Given the description of an element on the screen output the (x, y) to click on. 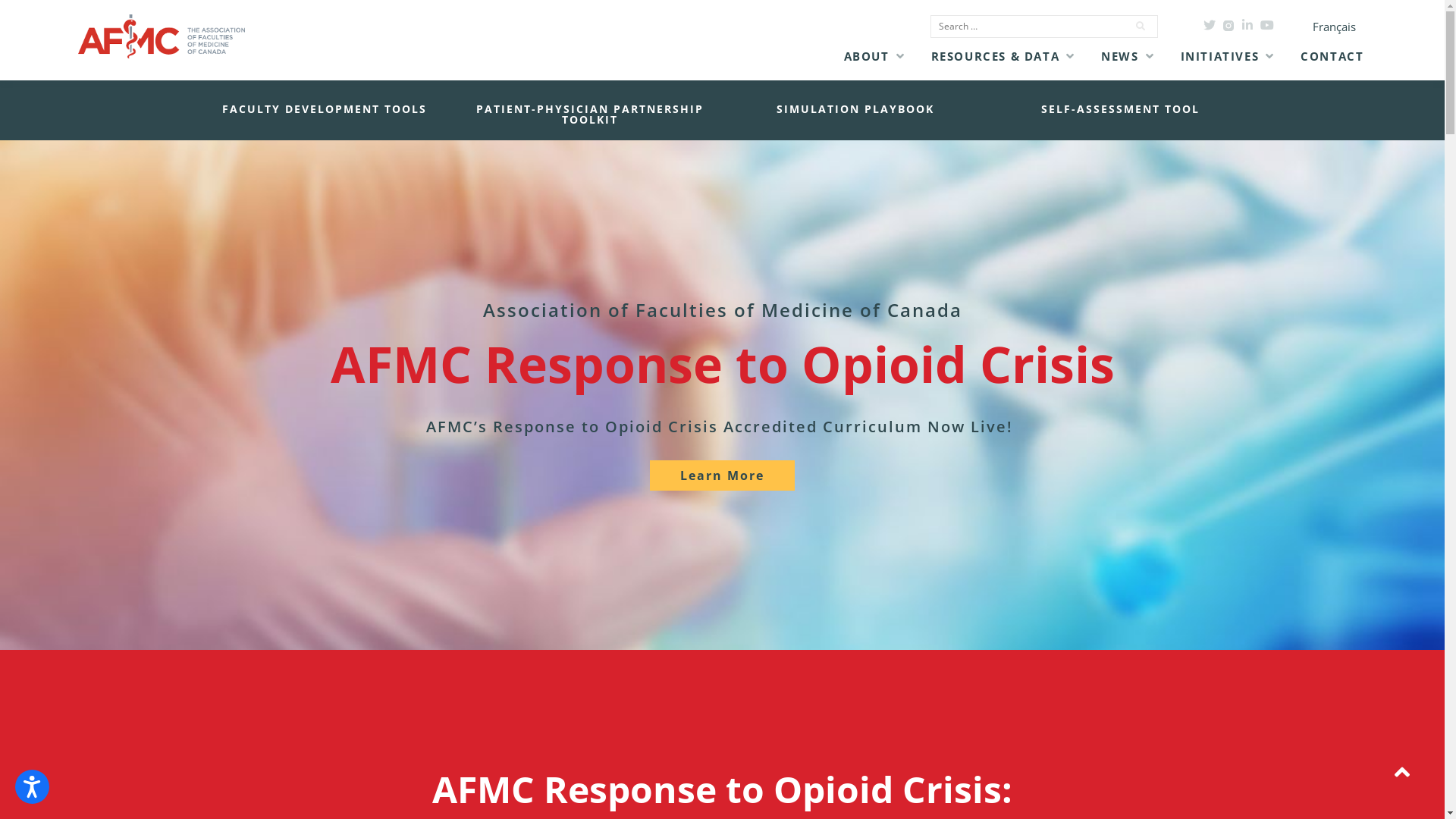
Learn More Element type: text (721, 475)
CONTACT Element type: text (1331, 55)
NEWS Element type: text (1119, 55)
INITIATIVES Element type: text (1219, 55)
RESOURCES & DATA Element type: text (995, 55)
SIMULATION PLAYBOOK Element type: text (855, 108)
PATIENT-PHYSICIAN PARTNERSHIP TOOLKIT Element type: text (589, 114)
ABOUT Element type: text (866, 55)
FACULTY DEVELOPMENT TOOLS Element type: text (323, 108)
SELF-ASSESSMENT TOOL Element type: text (1120, 108)
